Given the description of an element on the screen output the (x, y) to click on. 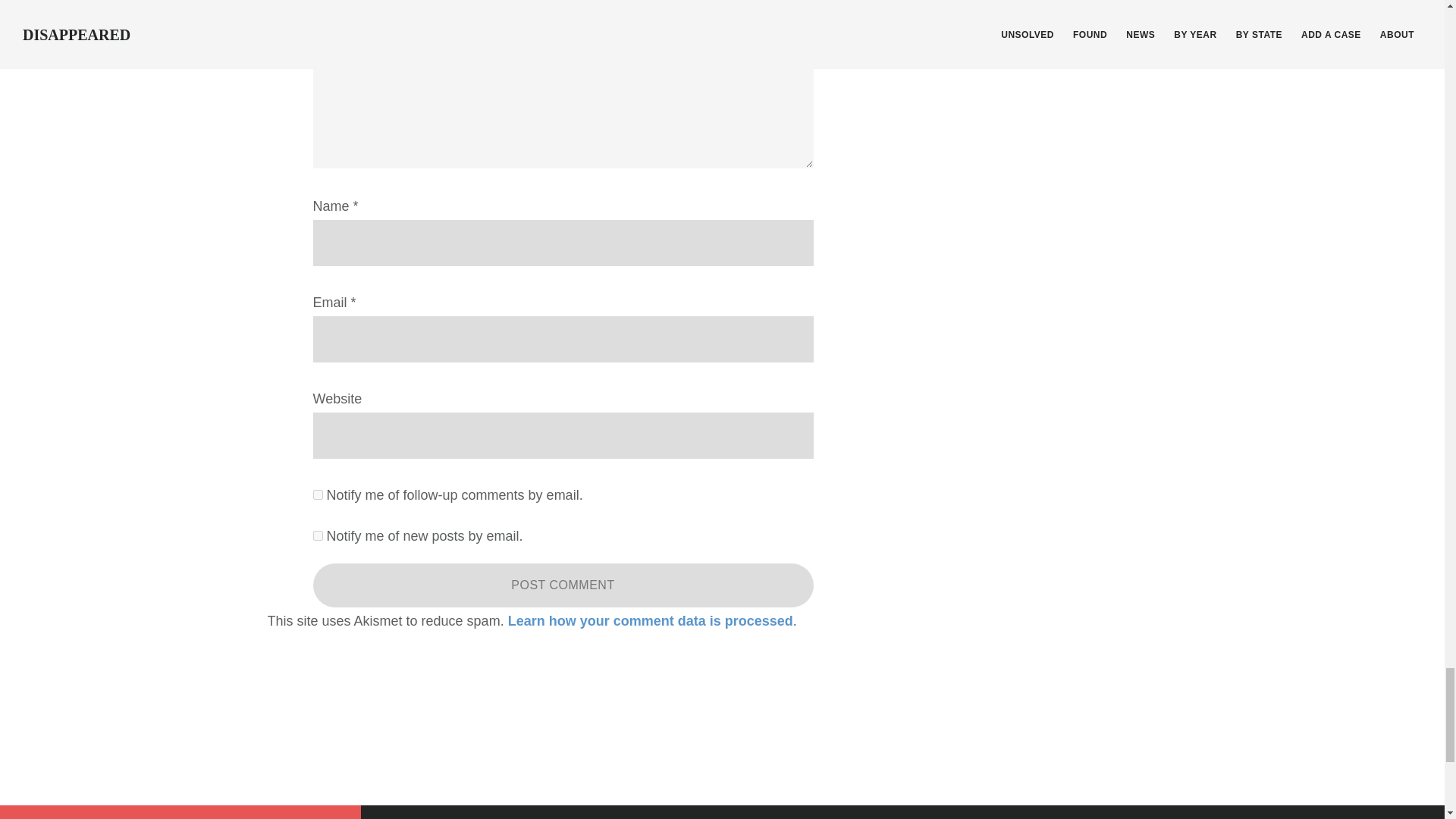
subscribe (317, 494)
Post Comment (562, 585)
Learn how your comment data is processed (650, 620)
subscribe (317, 535)
Post Comment (562, 585)
